Given the description of an element on the screen output the (x, y) to click on. 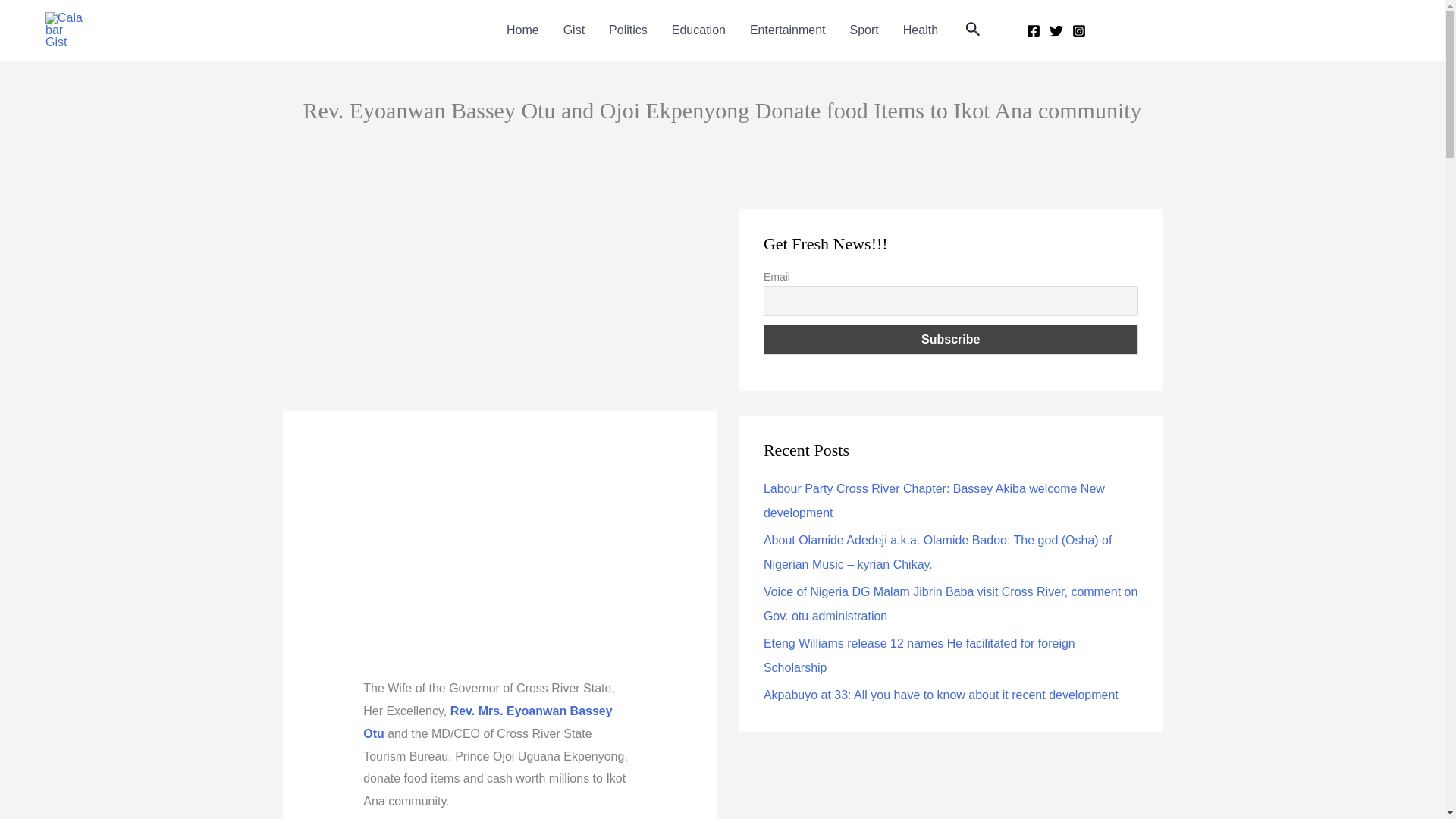
Rev. Mrs. Eyoanwan Bassey Otu (486, 722)
Politics (627, 29)
Entertainment (788, 29)
Subscribe (950, 339)
Health (920, 29)
Sport (864, 29)
Gist (573, 29)
Subscribe (950, 339)
